Given the description of an element on the screen output the (x, y) to click on. 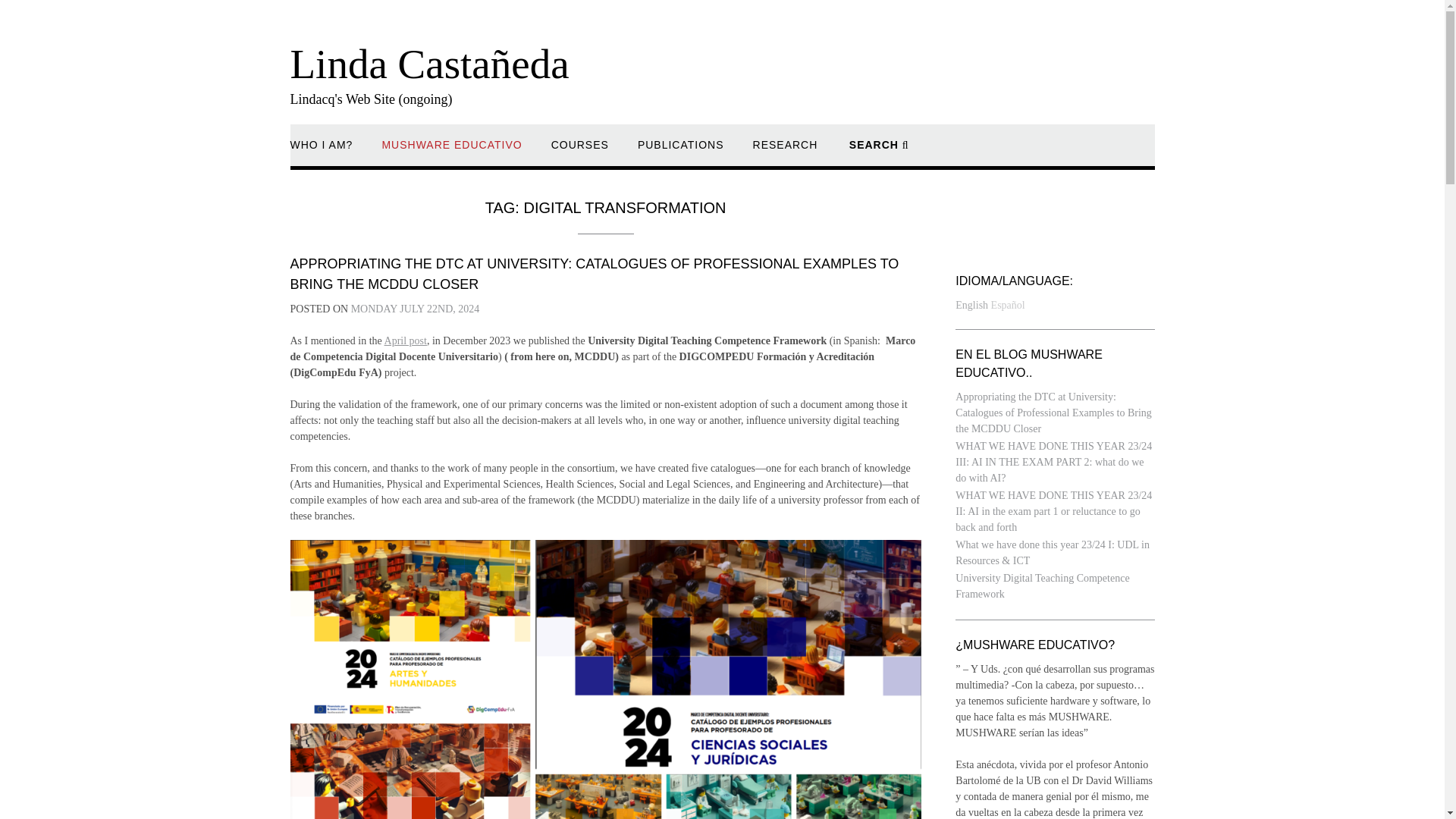
MUSHWARE EDUCATIVO (451, 152)
SEARCH (878, 152)
MONDAY JULY 22ND, 2024 (415, 308)
April post (405, 340)
WHO I AM? (320, 152)
COURSES (579, 152)
PUBLICATIONS (680, 152)
RESEARCH (785, 152)
